Given the description of an element on the screen output the (x, y) to click on. 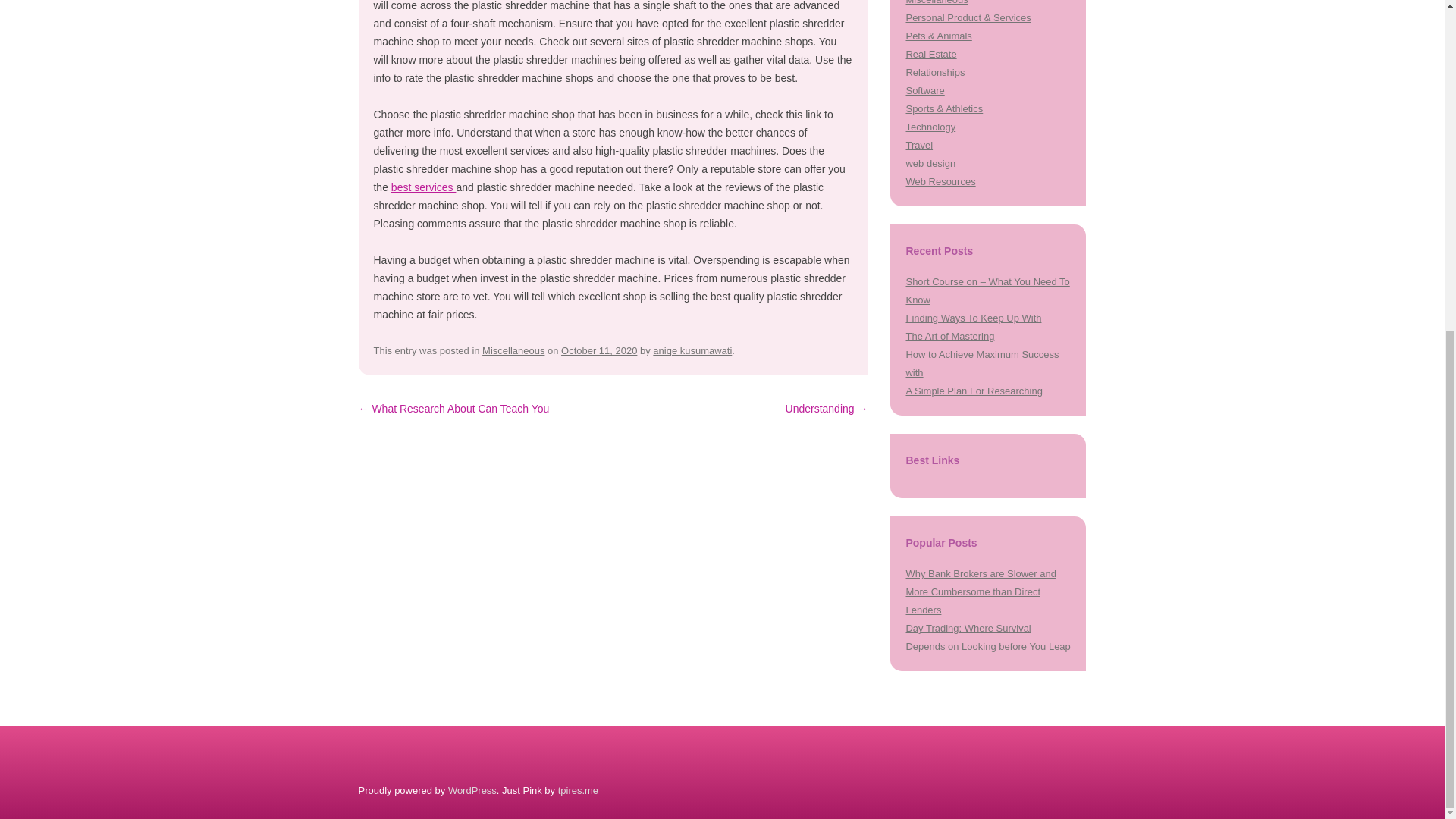
Miscellaneous (512, 350)
View all posts by aniqe kusumawati (692, 350)
Real Estate (930, 53)
Software (924, 90)
Semantic Personal Publishing Platform (472, 790)
Relationships (934, 71)
aniqe kusumawati (692, 350)
7:02 pm (598, 350)
Travel (919, 144)
